Given the description of an element on the screen output the (x, y) to click on. 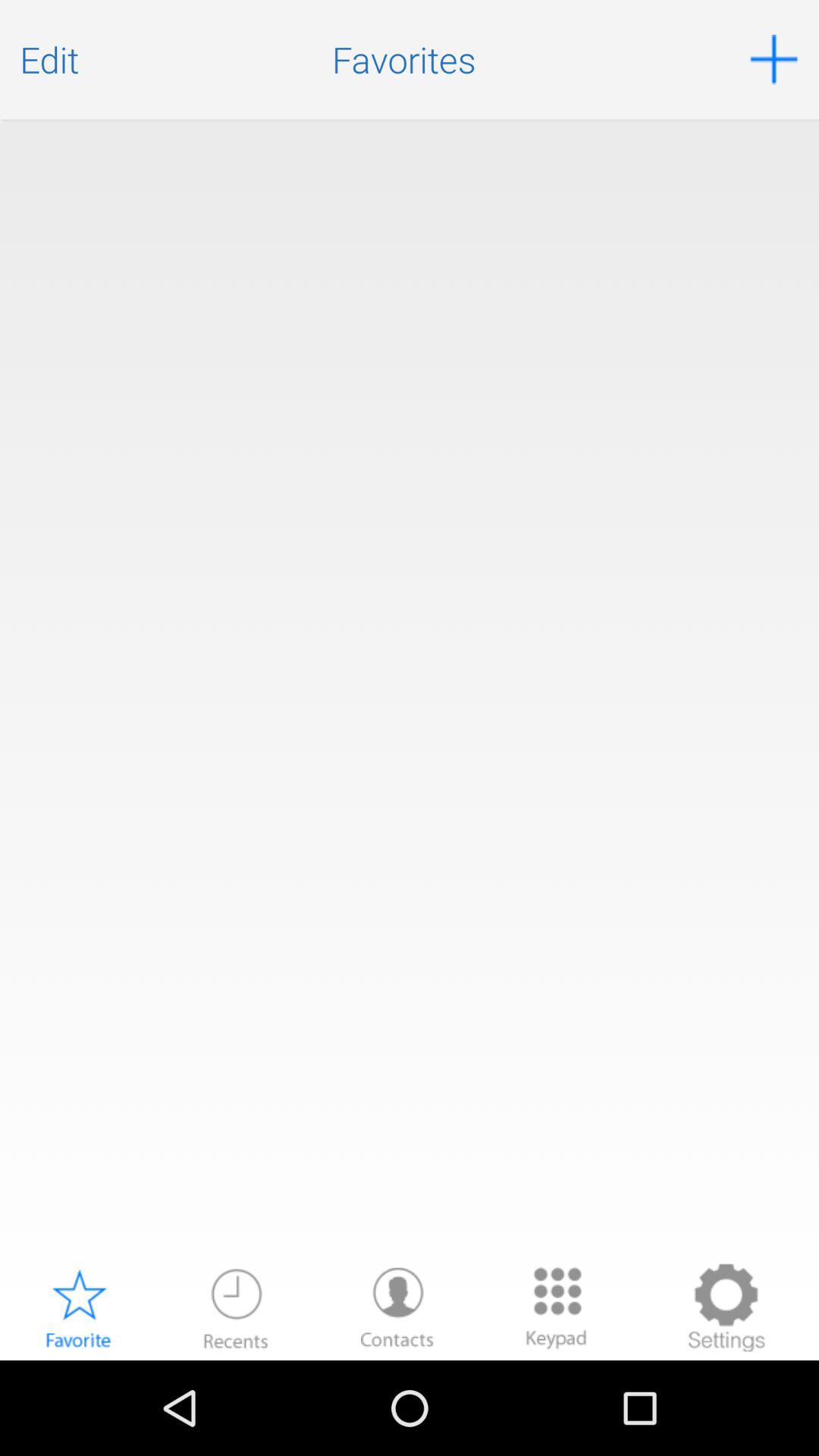
open app to the right of the favorites (774, 59)
